Given the description of an element on the screen output the (x, y) to click on. 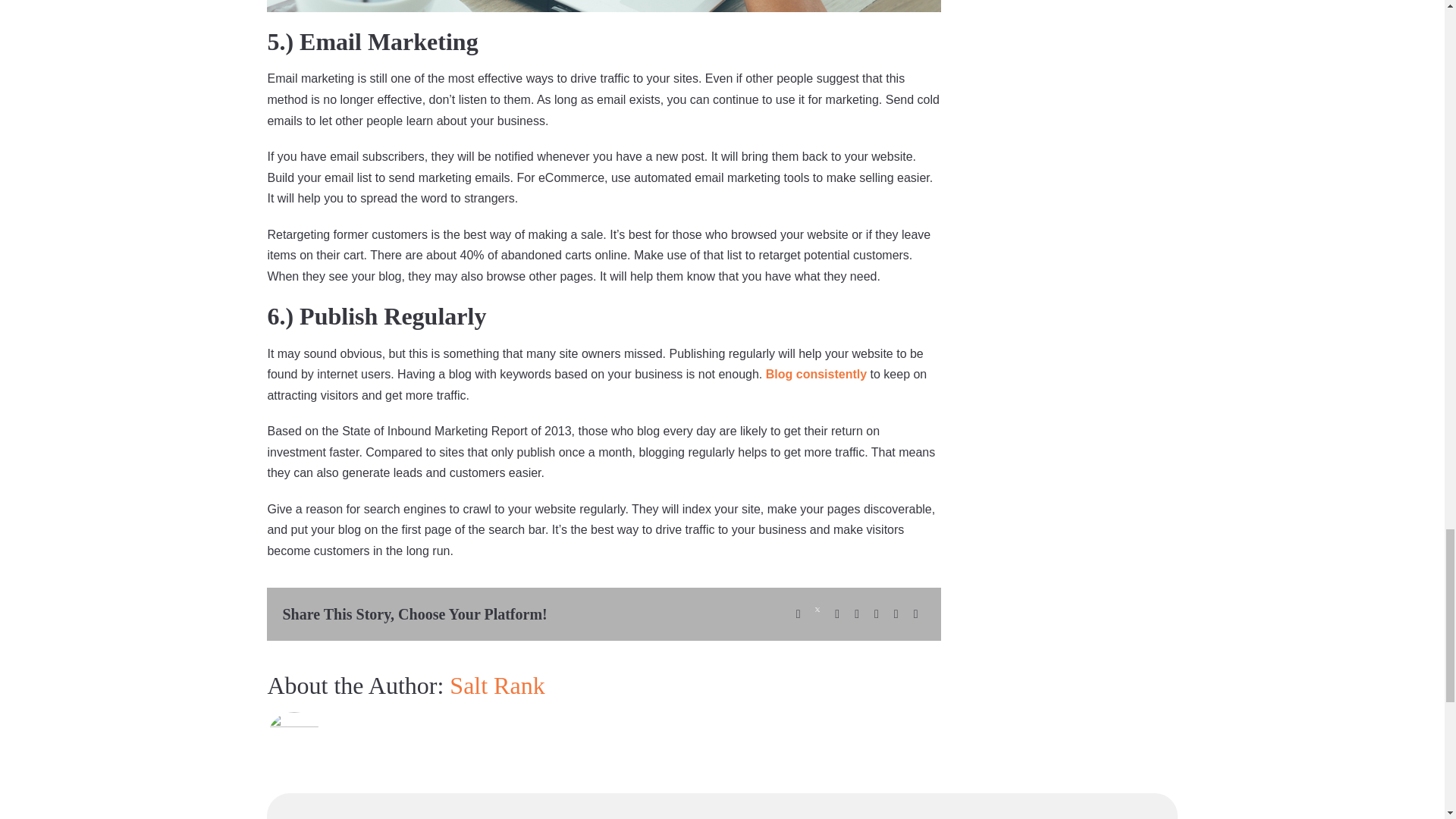
X (817, 613)
LinkedIn (837, 613)
Pinterest (895, 613)
Blog consistently (815, 373)
Tumblr (876, 613)
Email (915, 613)
WhatsApp (856, 613)
Facebook (798, 613)
